Given the description of an element on the screen output the (x, y) to click on. 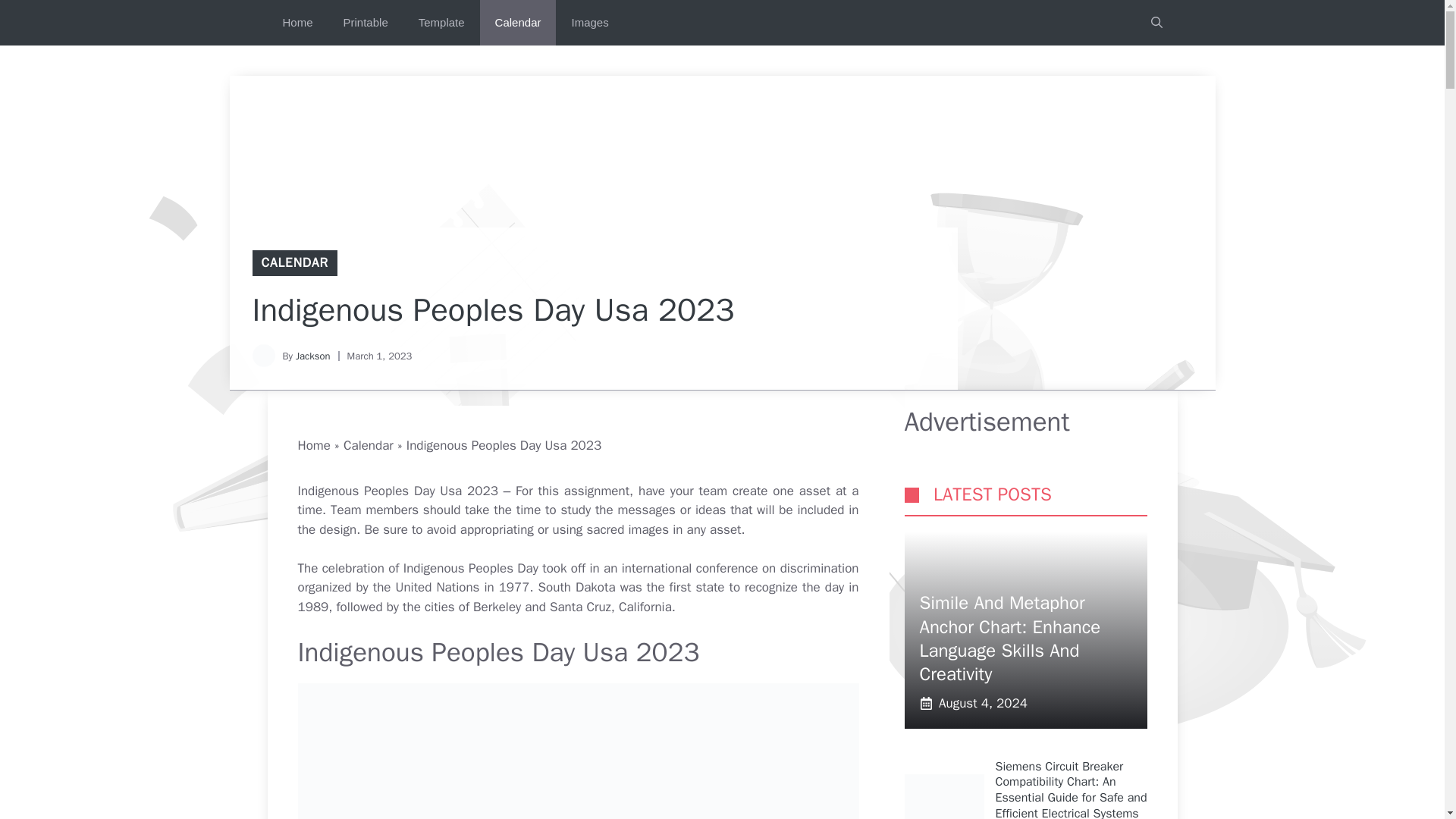
Indigenous Peoples Day Usa 2023 (578, 751)
Calendar (368, 445)
Home (296, 22)
CALENDAR (294, 262)
Images (589, 22)
Jackson (312, 355)
Calendar (518, 22)
